Given the description of an element on the screen output the (x, y) to click on. 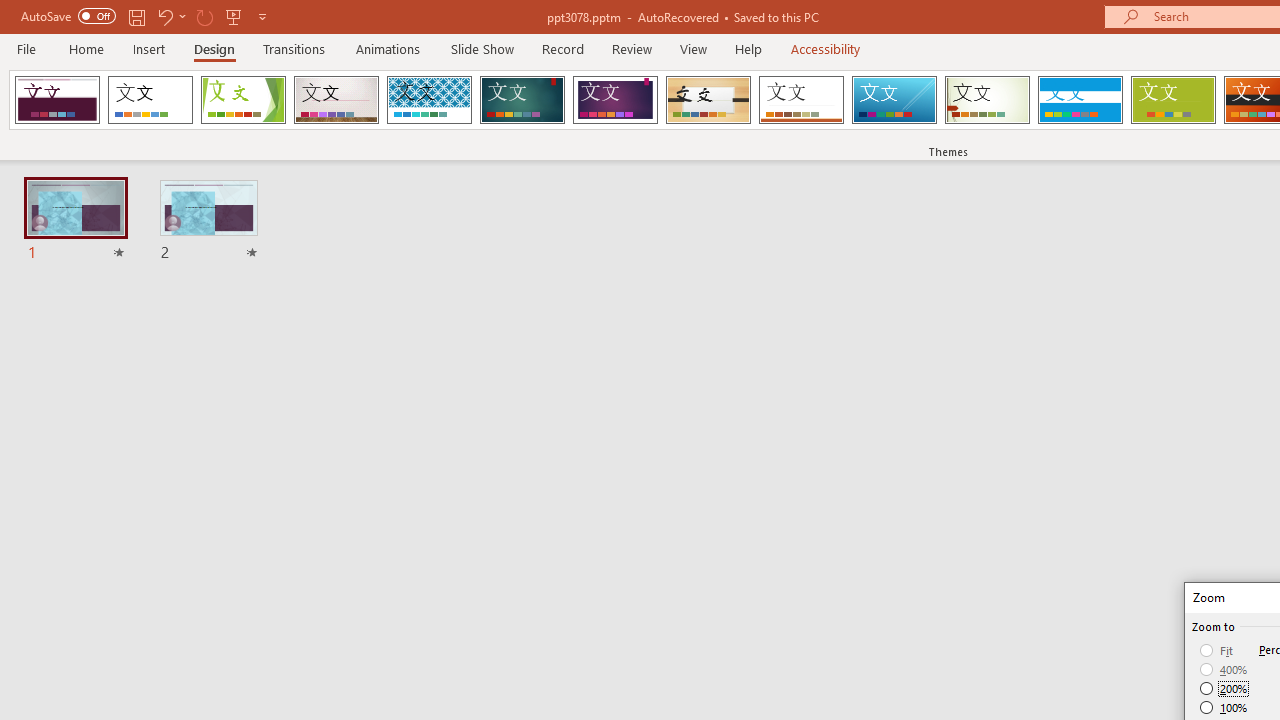
Office Theme (150, 100)
Basis (1172, 100)
400% (1224, 669)
Droplet (57, 100)
Fit (1217, 650)
